Given the description of an element on the screen output the (x, y) to click on. 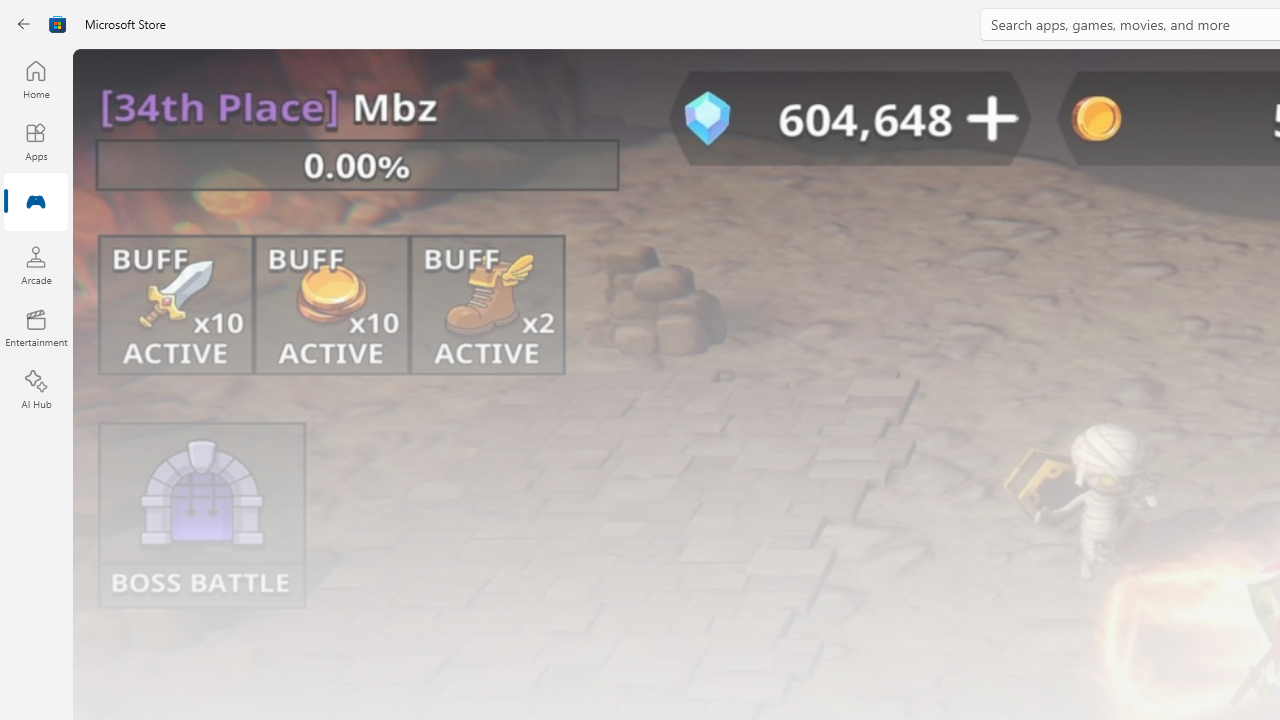
Back (24, 24)
